Given the description of an element on the screen output the (x, y) to click on. 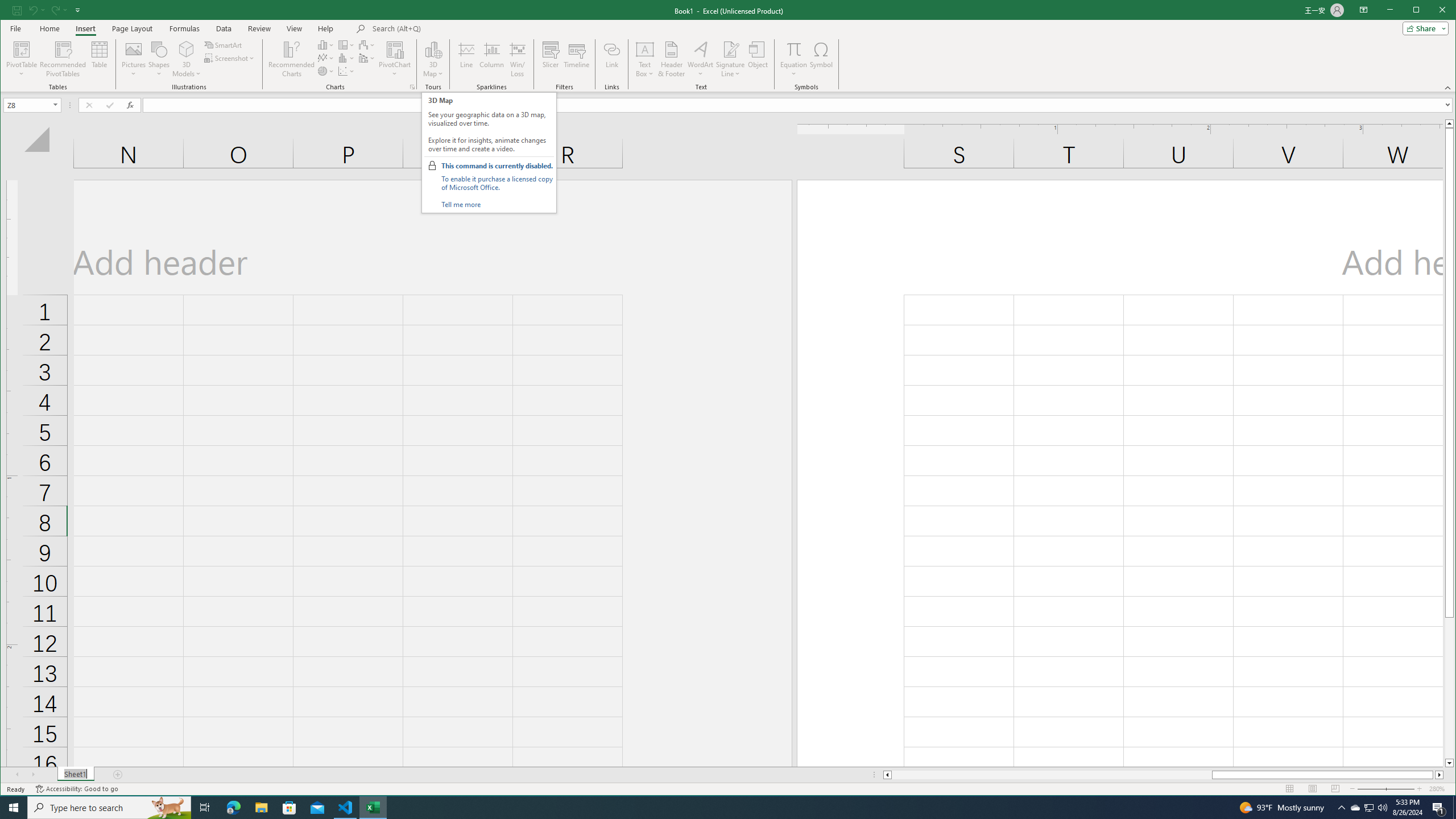
Notification Chevron (1341, 807)
Insert Scatter (X, Y) or Bubble Chart (346, 70)
PivotChart (1355, 807)
Microsoft search (394, 59)
Table (451, 28)
Sheet Tab (99, 59)
Class: MsoCommandBar (75, 774)
Win/Loss (728, 45)
Microsoft Store (517, 59)
